Given the description of an element on the screen output the (x, y) to click on. 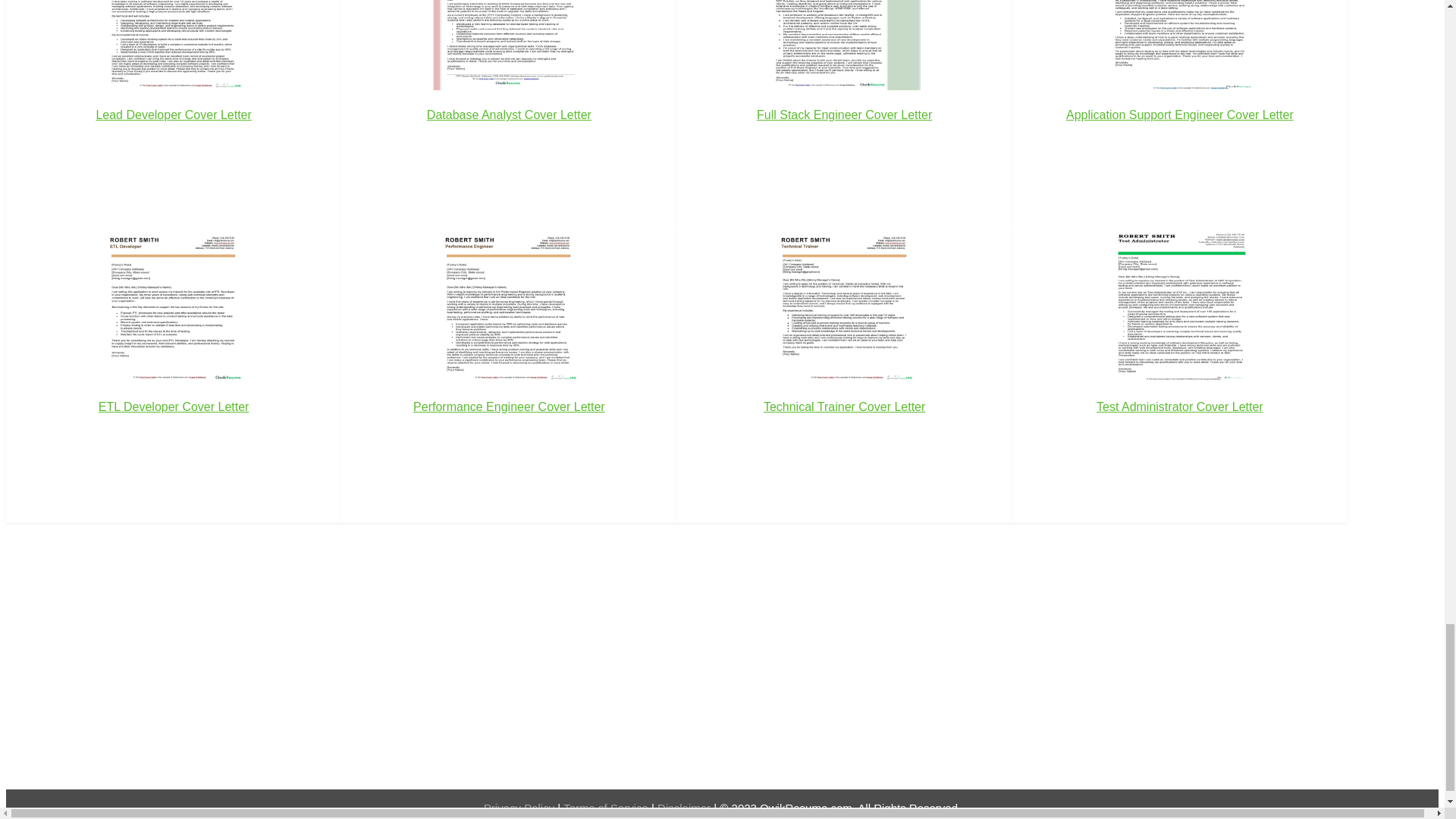
ETL Developer Cover Letter Example (172, 306)
Disclaimer (685, 807)
Full Stack Engineer Cover Letter Example (844, 45)
Test Administrator Cover Letter (1179, 348)
Technical Trainer Cover Letter (844, 348)
Performance Engineer Cover Letter Example (508, 306)
Lead Developer Cover Letter Example (172, 45)
Privacy Policy (520, 807)
Lead Developer Cover Letter (172, 86)
Application Support Engineer Cover Letter Example (1179, 45)
Terms of Service (606, 807)
Database Analyst Cover Letter Example (508, 45)
Full Stack Engineer Cover Letter (844, 86)
ETL Developer Cover Letter (172, 348)
View All Cover Letter Examples (76, 531)
